Given the description of an element on the screen output the (x, y) to click on. 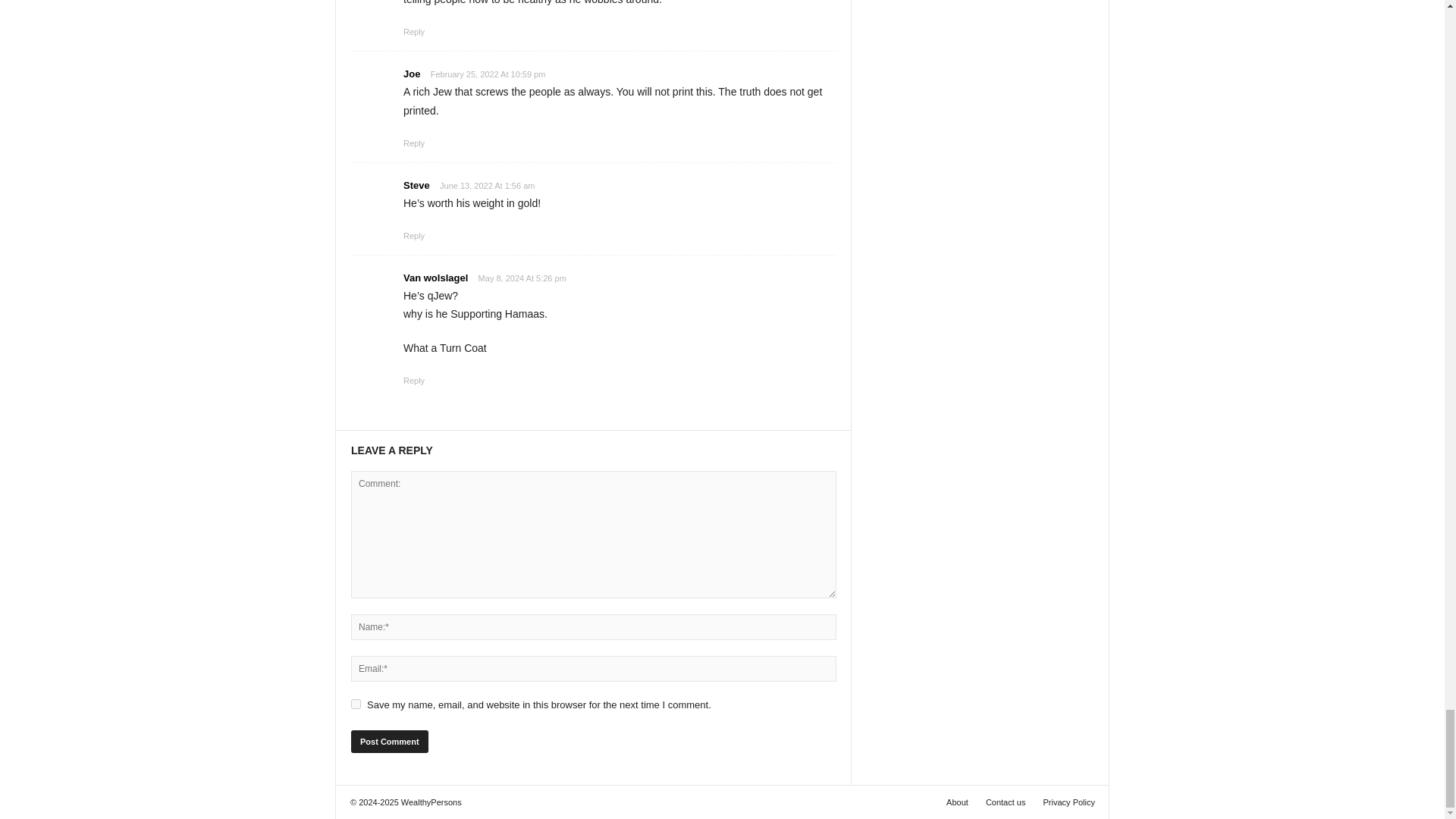
Post Comment (389, 741)
yes (355, 704)
